Given the description of an element on the screen output the (x, y) to click on. 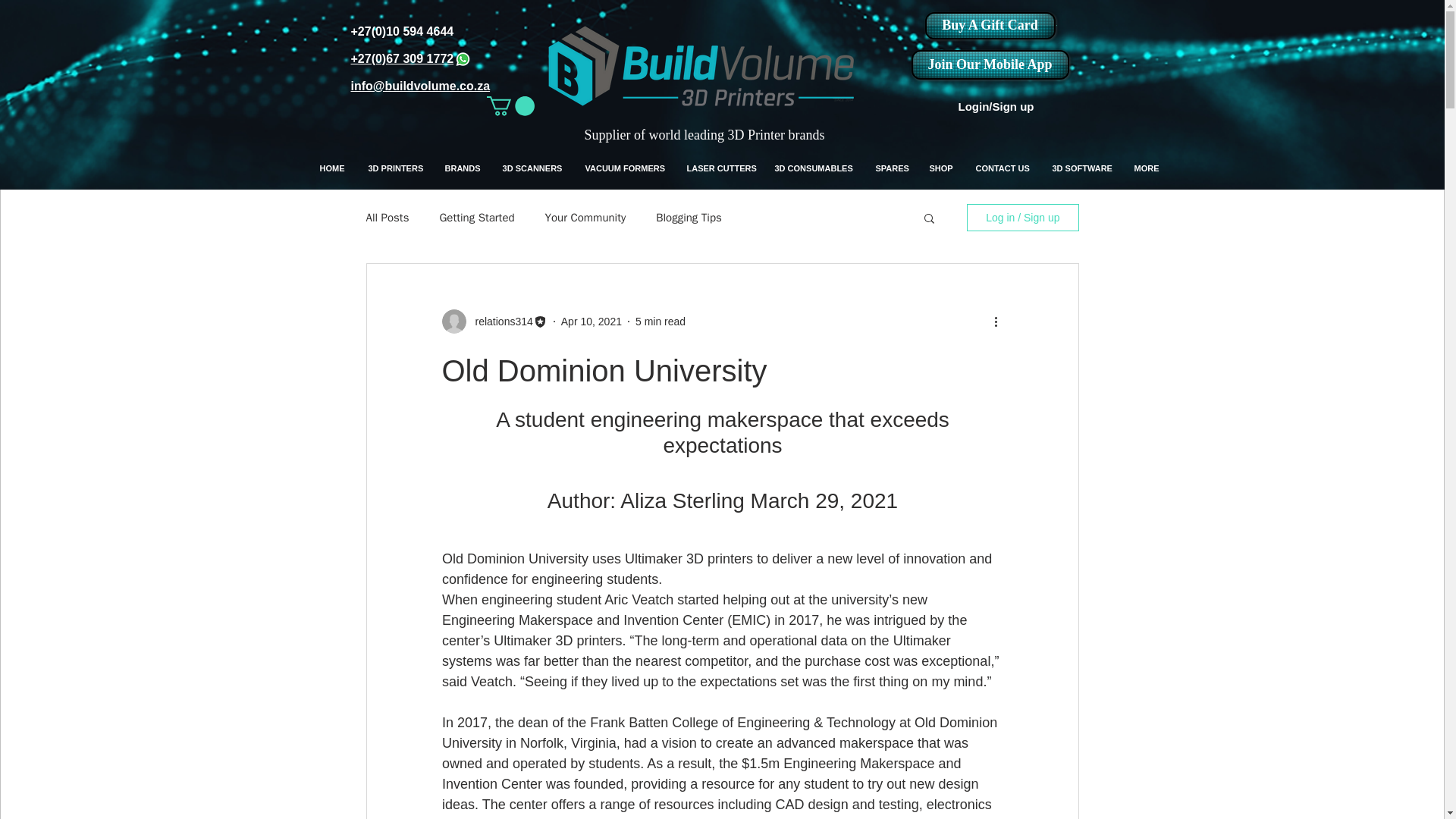
3D PRINTERS (394, 168)
SPARES (891, 168)
3D CONSUMABLES (812, 168)
Your Community (585, 217)
3D SOFTWARE (1081, 168)
Buy A Gift Card (989, 25)
BRANDS (462, 168)
Apr 10, 2021 (590, 321)
HOME (331, 168)
Join Our Mobile App (989, 64)
